Given the description of an element on the screen output the (x, y) to click on. 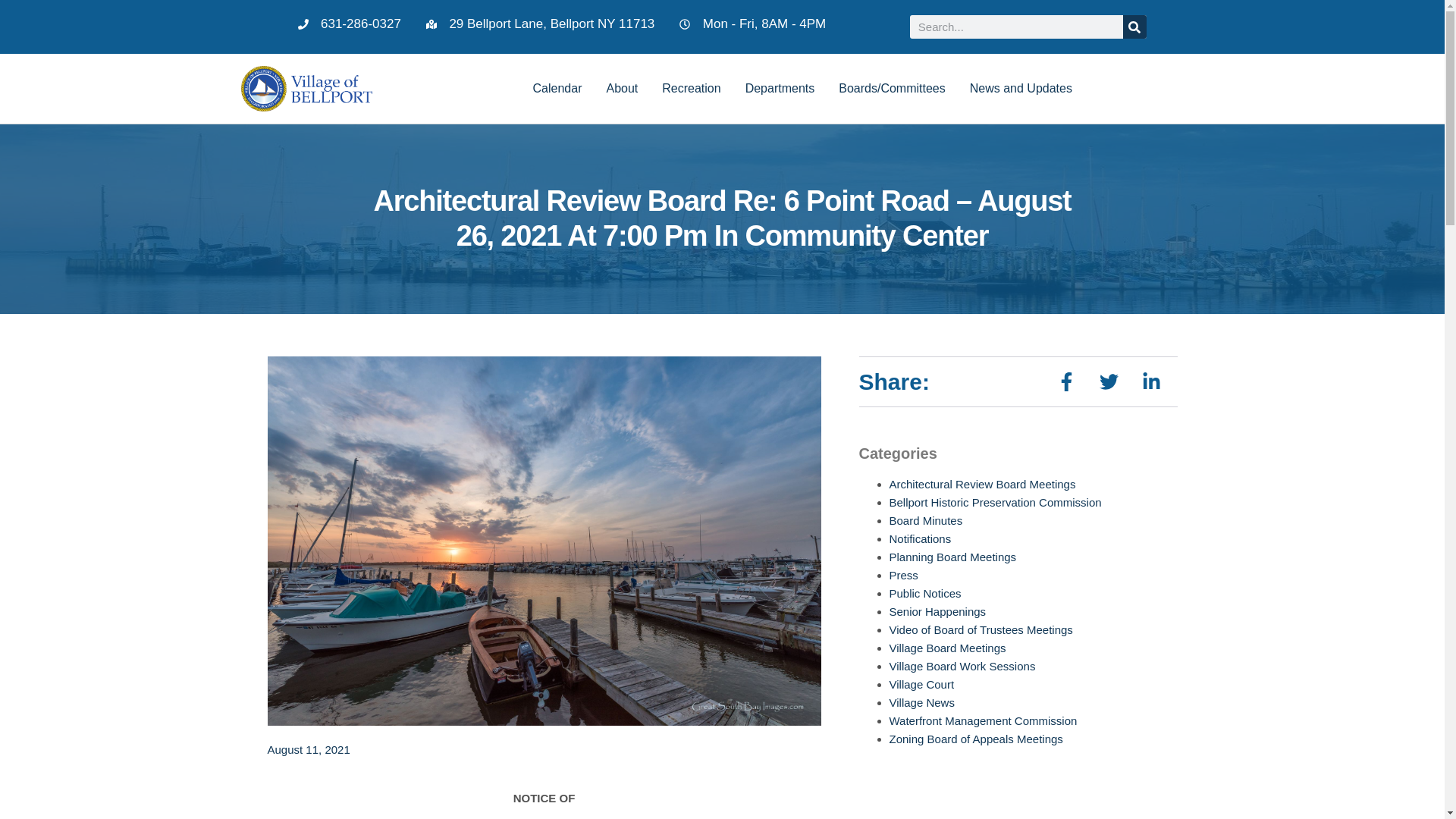
631-286-0327 (348, 24)
About (621, 88)
29 Bellport Lane, Bellport NY 11713 (539, 24)
Calendar (557, 88)
Departments (780, 88)
Recreation (690, 88)
